Given the description of an element on the screen output the (x, y) to click on. 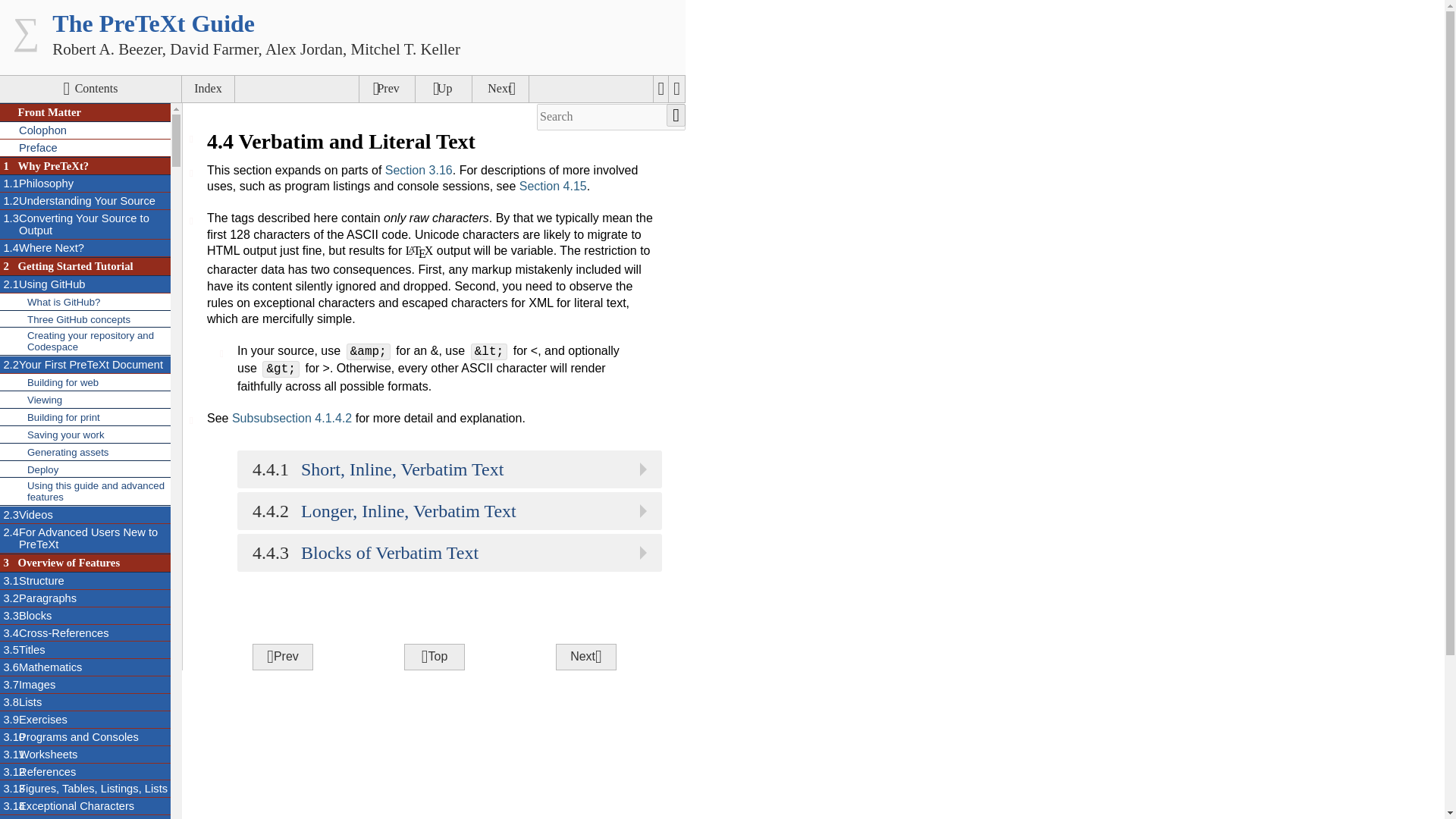
What is GitHub? (85, 302)
The PreTeXt Guide (153, 22)
Viewing (85, 399)
Up (442, 89)
Section 3.16: Verbatim and Literal Text (418, 169)
Preface (85, 148)
Previous (85, 364)
Three GitHub concepts (85, 200)
Subsubsection 4.1.4.2: Exceptional Keyboard Characters (85, 224)
Next (85, 248)
